Given the description of an element on the screen output the (x, y) to click on. 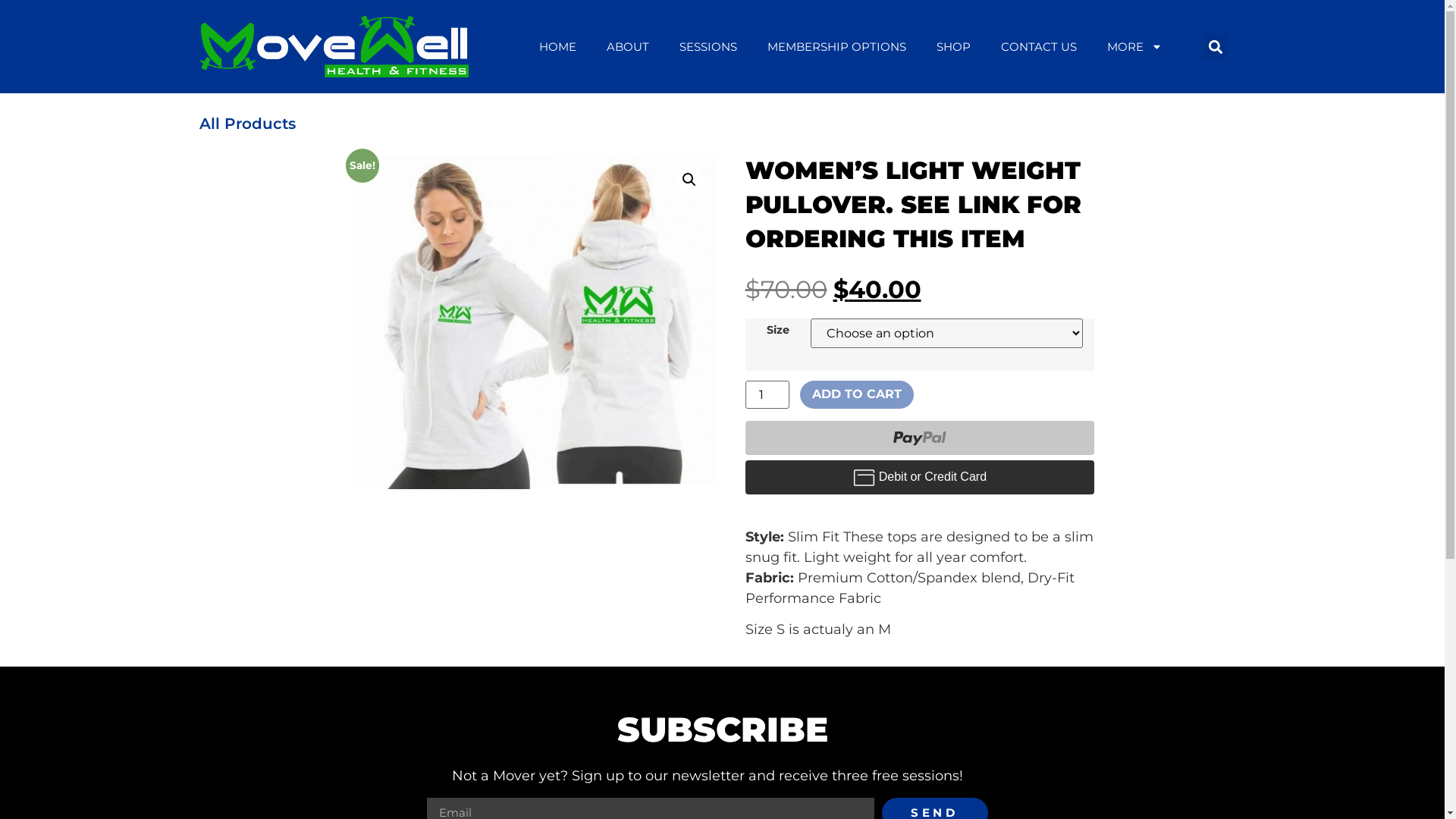
PayPal Element type: hover (918, 437)
ADD TO CART Element type: text (856, 394)
PayPal Element type: hover (918, 477)
MORE Element type: text (1134, 46)
SESSIONS Element type: text (708, 46)
Qty Element type: hover (766, 394)
CONTACT US Element type: text (1038, 46)
WOMEN'S LIGHT WEIGHT PULLOVER Element type: hover (532, 321)
SHOP Element type: text (953, 46)
All Products Element type: text (246, 123)
MEMBERSHIP OPTIONS Element type: text (836, 46)
HOME Element type: text (557, 46)
ABOUT Element type: text (627, 46)
